Given the description of an element on the screen output the (x, y) to click on. 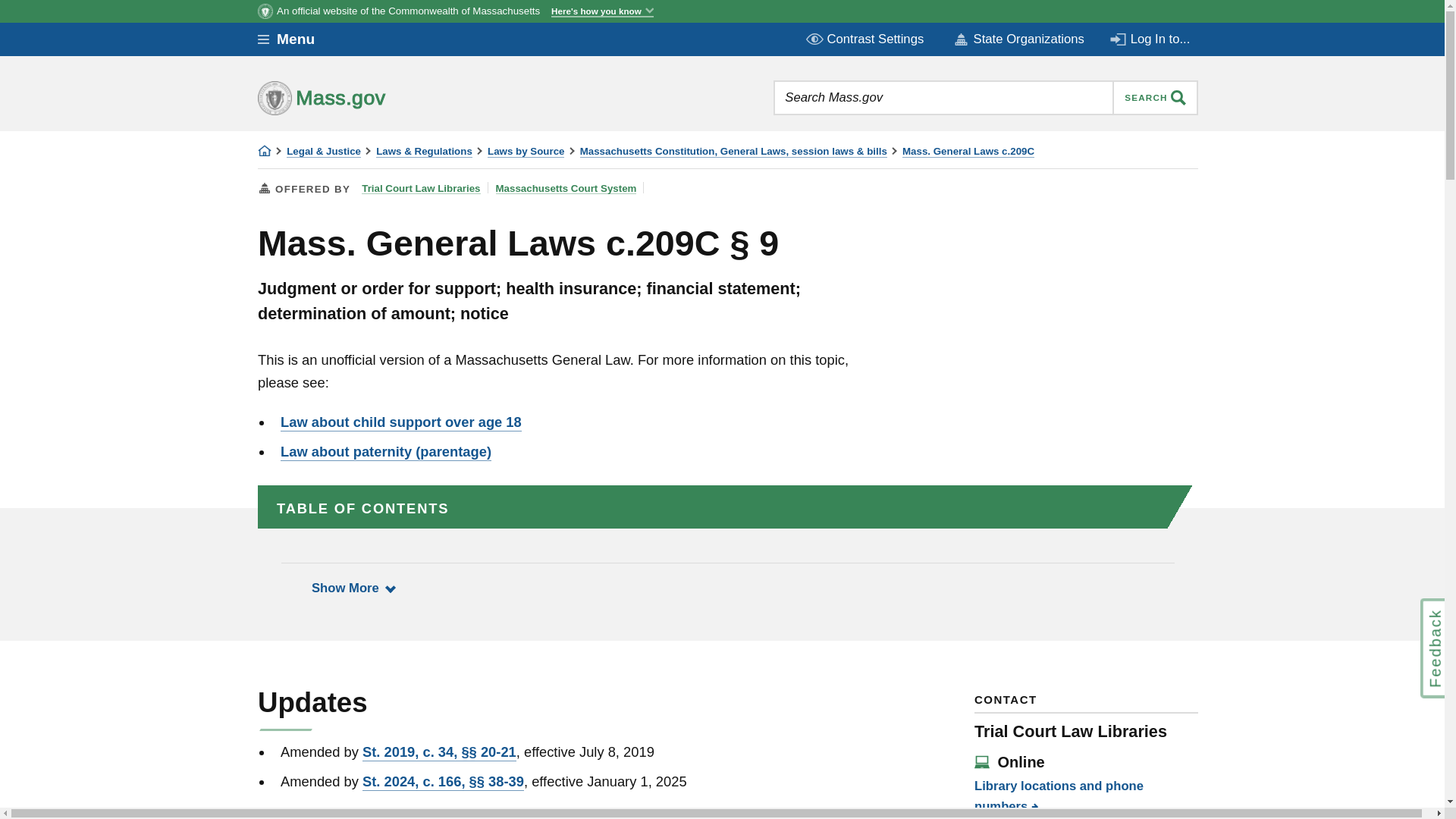
Contrast Settings (866, 38)
Log In to... (1151, 38)
Mass.gov home page (369, 97)
Menu (297, 39)
State Organizations (1018, 39)
